Given the description of an element on the screen output the (x, y) to click on. 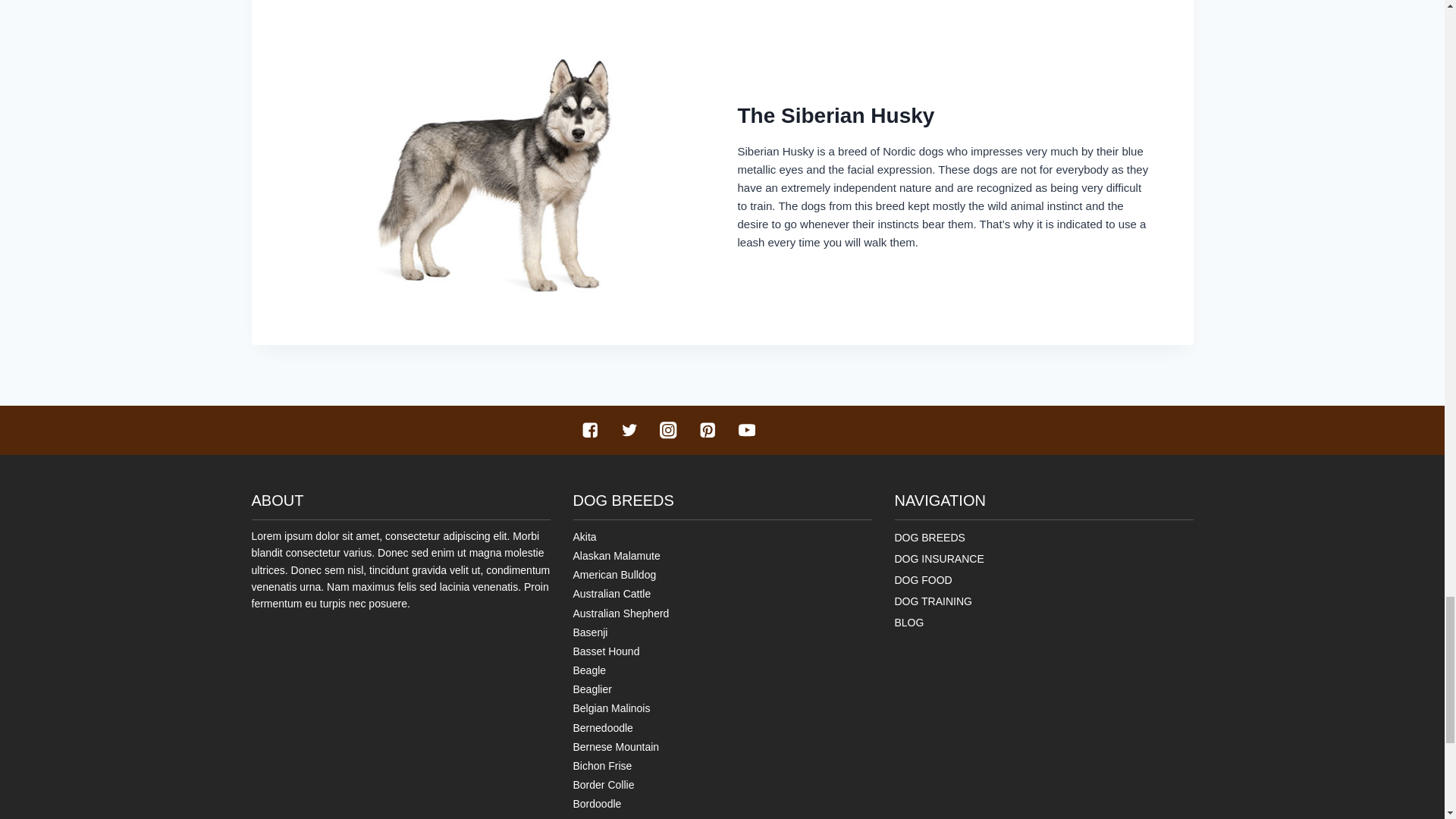
Bordoodle (597, 803)
Beaglier (592, 689)
Belgian Malinois (611, 707)
American Bulldog (614, 574)
Border Collie (603, 784)
Bernese Mountain (616, 746)
Boston Terrier (606, 818)
Akita (584, 536)
Bernedoodle (603, 727)
Australian Shepherd (621, 613)
